Given the description of an element on the screen output the (x, y) to click on. 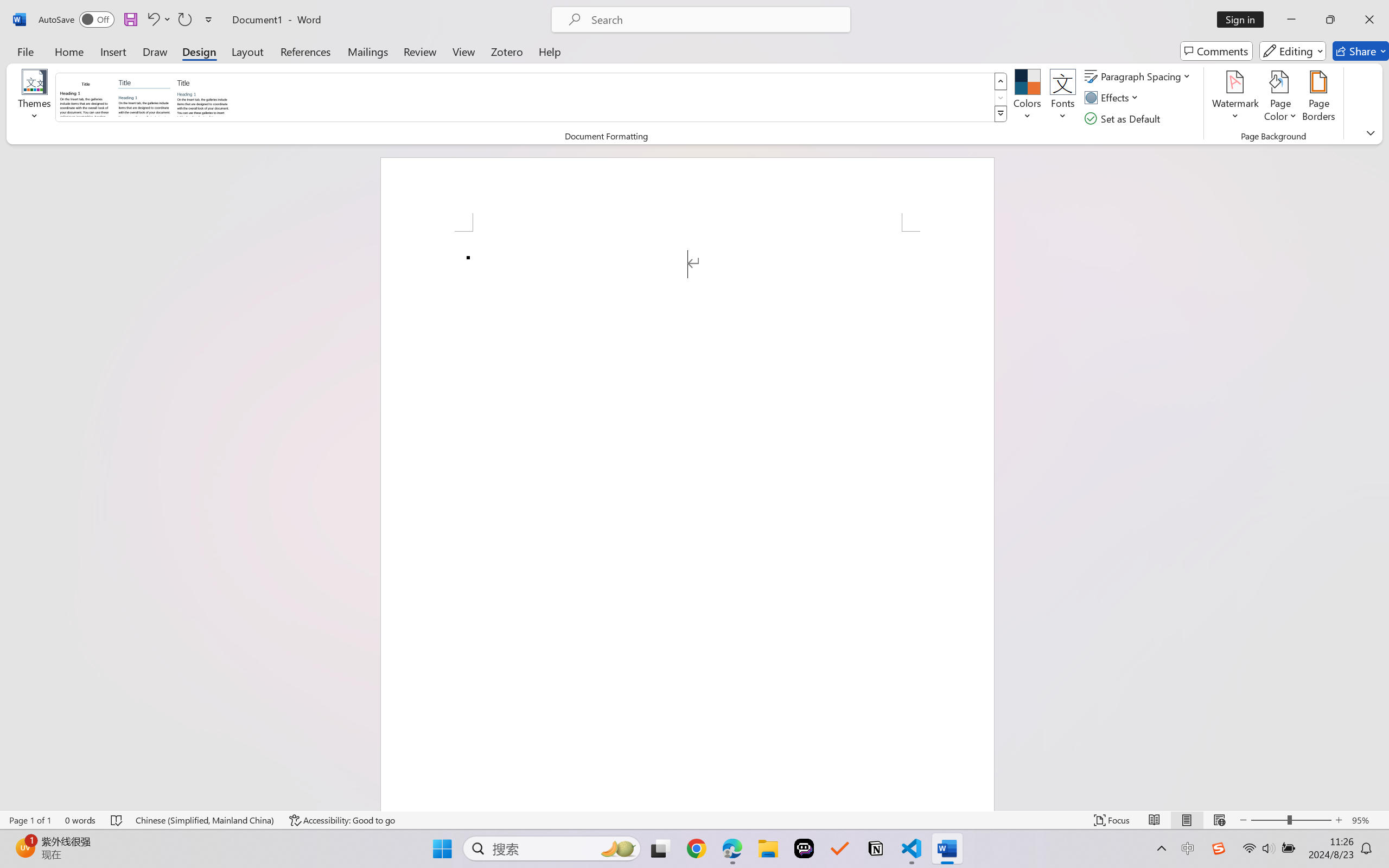
Paragraph Spacing (1139, 75)
Sign in (1244, 19)
Undo Apply Quick Style Set (158, 19)
Colors (1027, 97)
Themes (34, 97)
